Given the description of an element on the screen output the (x, y) to click on. 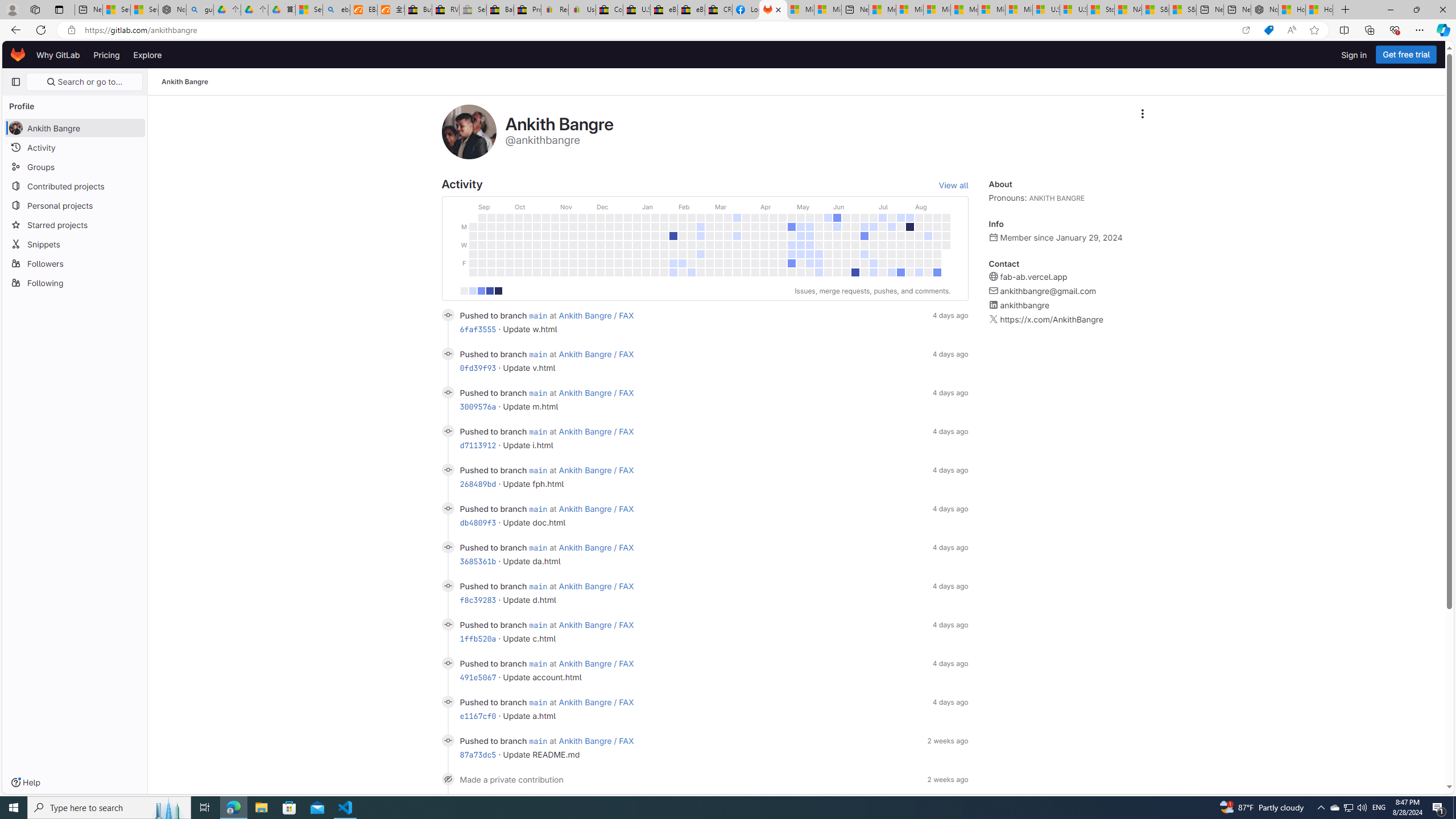
Sign in (1353, 54)
